Given the description of an element on the screen output the (x, y) to click on. 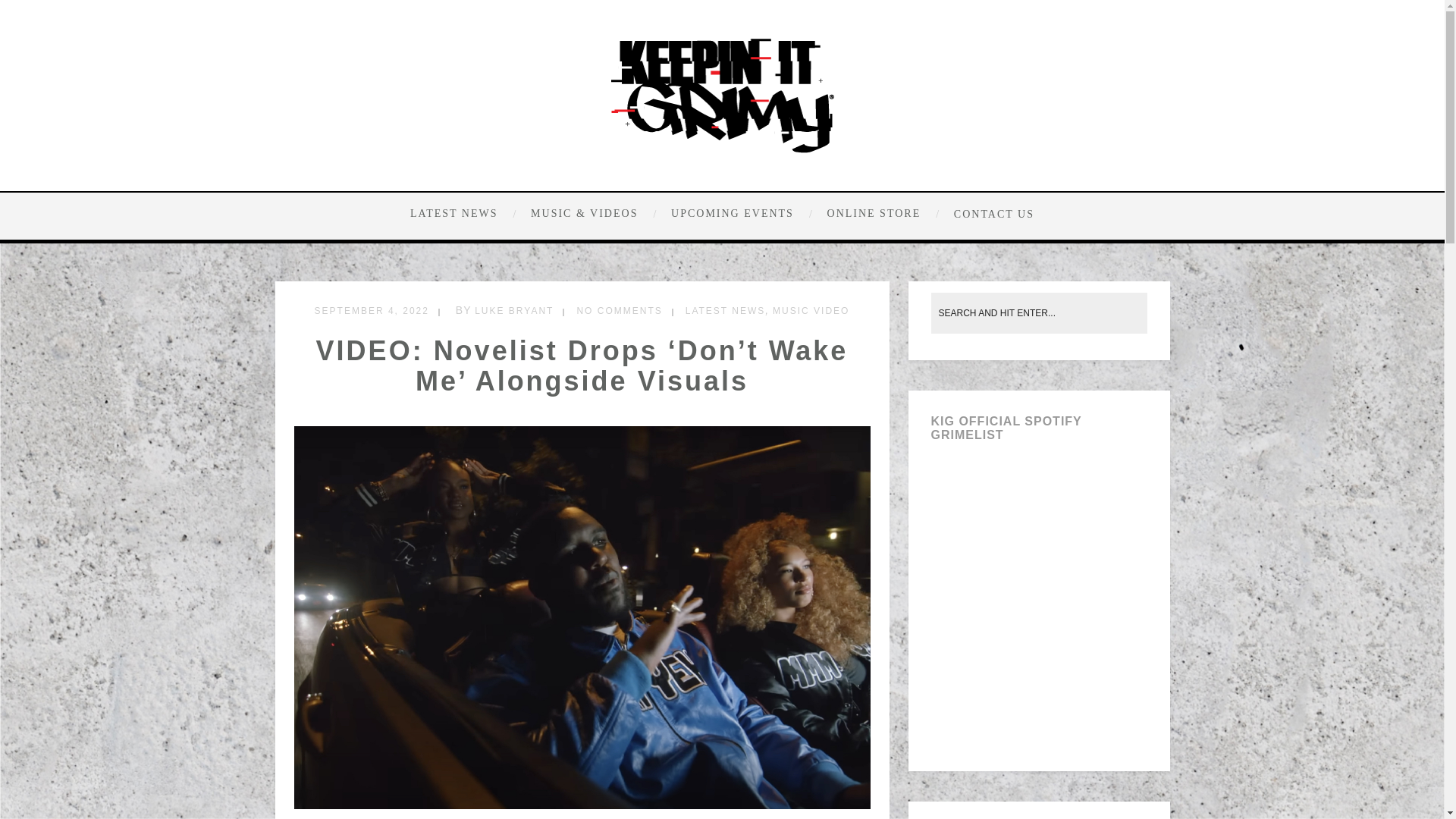
Search and hit enter... (1039, 312)
NO COMMENTS (619, 310)
LATEST NEWS (725, 310)
Posts by Luke Bryant (513, 310)
SEPTEMBER 4, 2022 (371, 310)
LATEST NEWS (464, 213)
LUKE BRYANT (513, 310)
MUSIC VIDEO (810, 310)
UPCOMING EVENTS (739, 213)
ONLINE STORE (881, 213)
CONTACT US (989, 213)
